Given the description of an element on the screen output the (x, y) to click on. 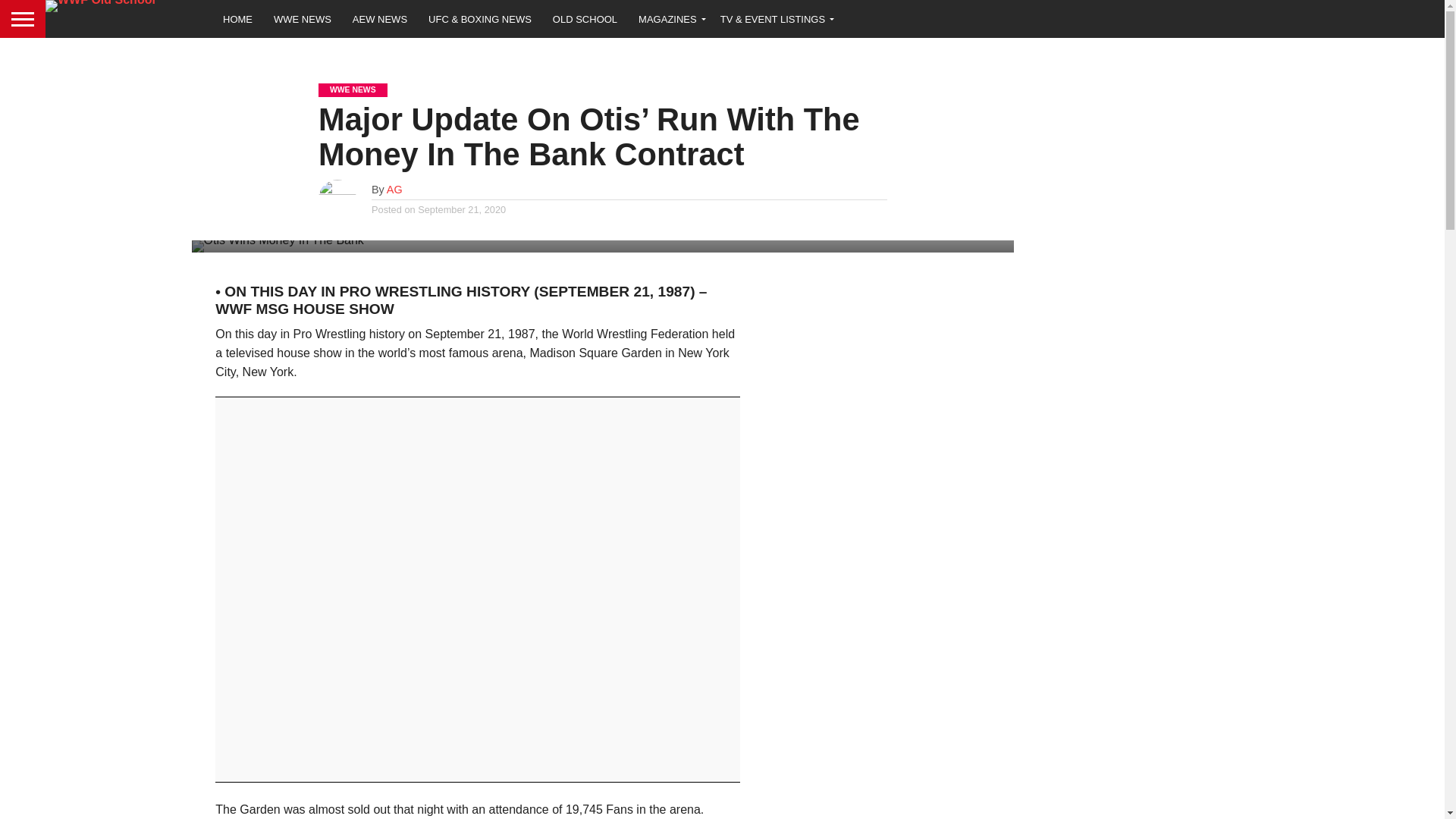
MAGAZINES (668, 18)
AEW NEWS (379, 18)
Posts by AG (395, 189)
WWE NEWS (302, 18)
OLD SCHOOL (584, 18)
HOME (237, 18)
